Given the description of an element on the screen output the (x, y) to click on. 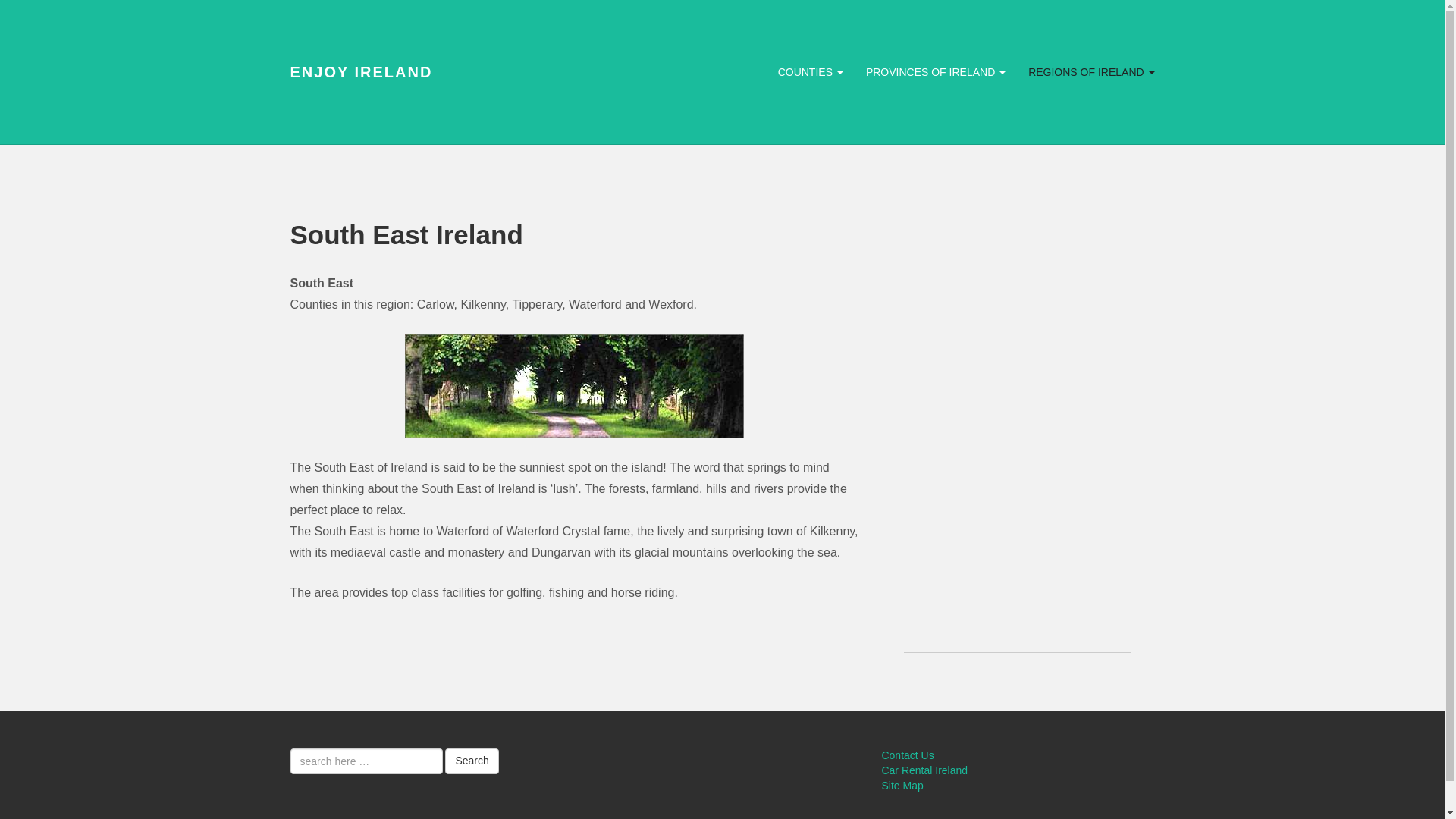
Enjoy Ireland (361, 71)
COUNTIES (810, 71)
PROVINCES OF IRELAND (935, 71)
ENJOY IRELAND (361, 71)
